Given the description of an element on the screen output the (x, y) to click on. 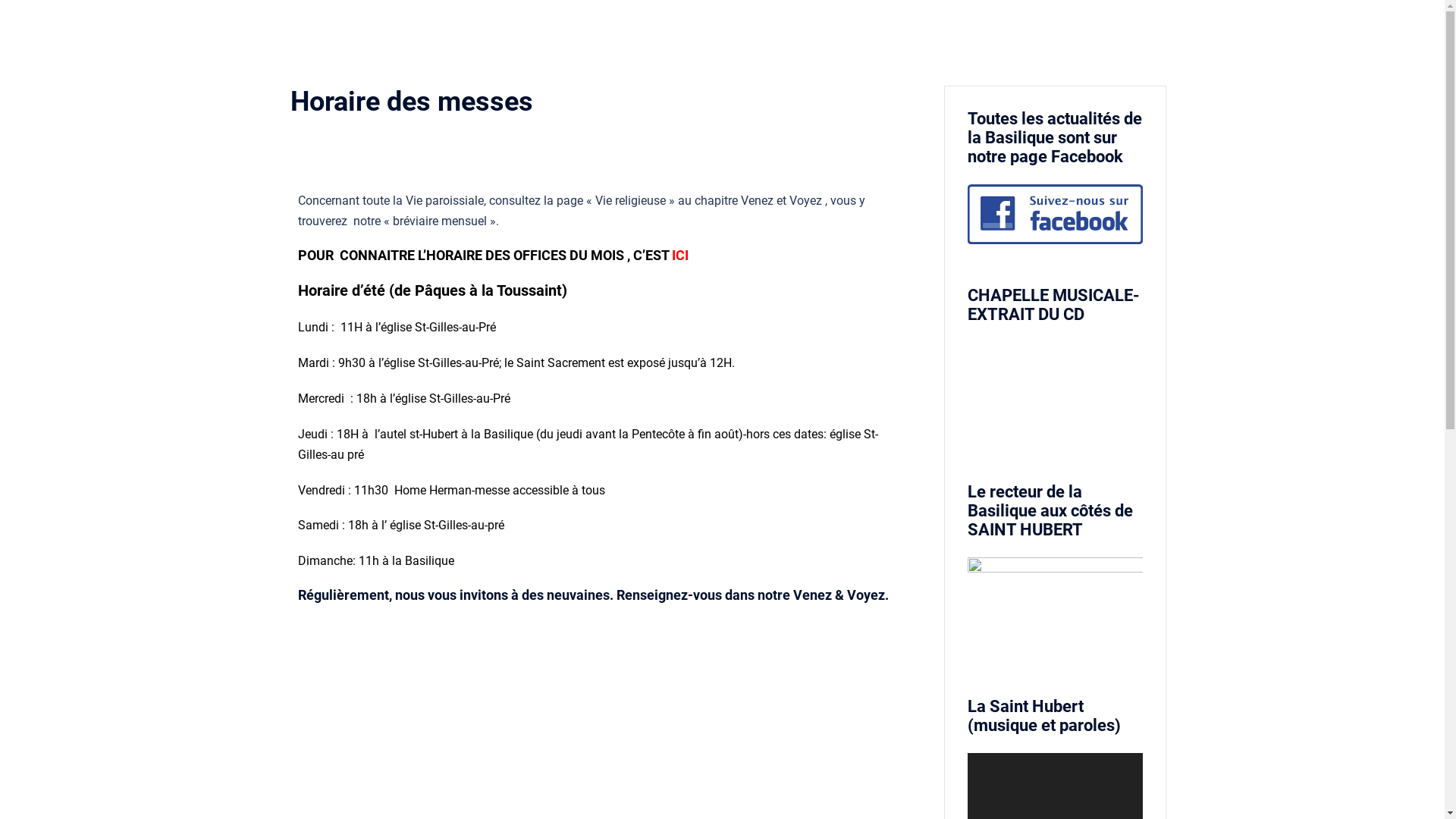
ACCUEIL Element type: text (779, 29)
Contact Element type: text (1124, 29)
ICI Element type: text (679, 255)
Nos services en ligne Element type: text (954, 29)
Temps forts Element type: text (1055, 29)
SAINT HUBERT AU COTE DE NOTRE DOYEN Element type: hover (1054, 606)
YouTube video player Element type: hover (1054, 391)
La Basilique Element type: text (851, 29)
Rechercher Element type: text (61, 18)
Basilique Saint-Hubert Element type: text (412, 29)
